Given the description of an element on the screen output the (x, y) to click on. 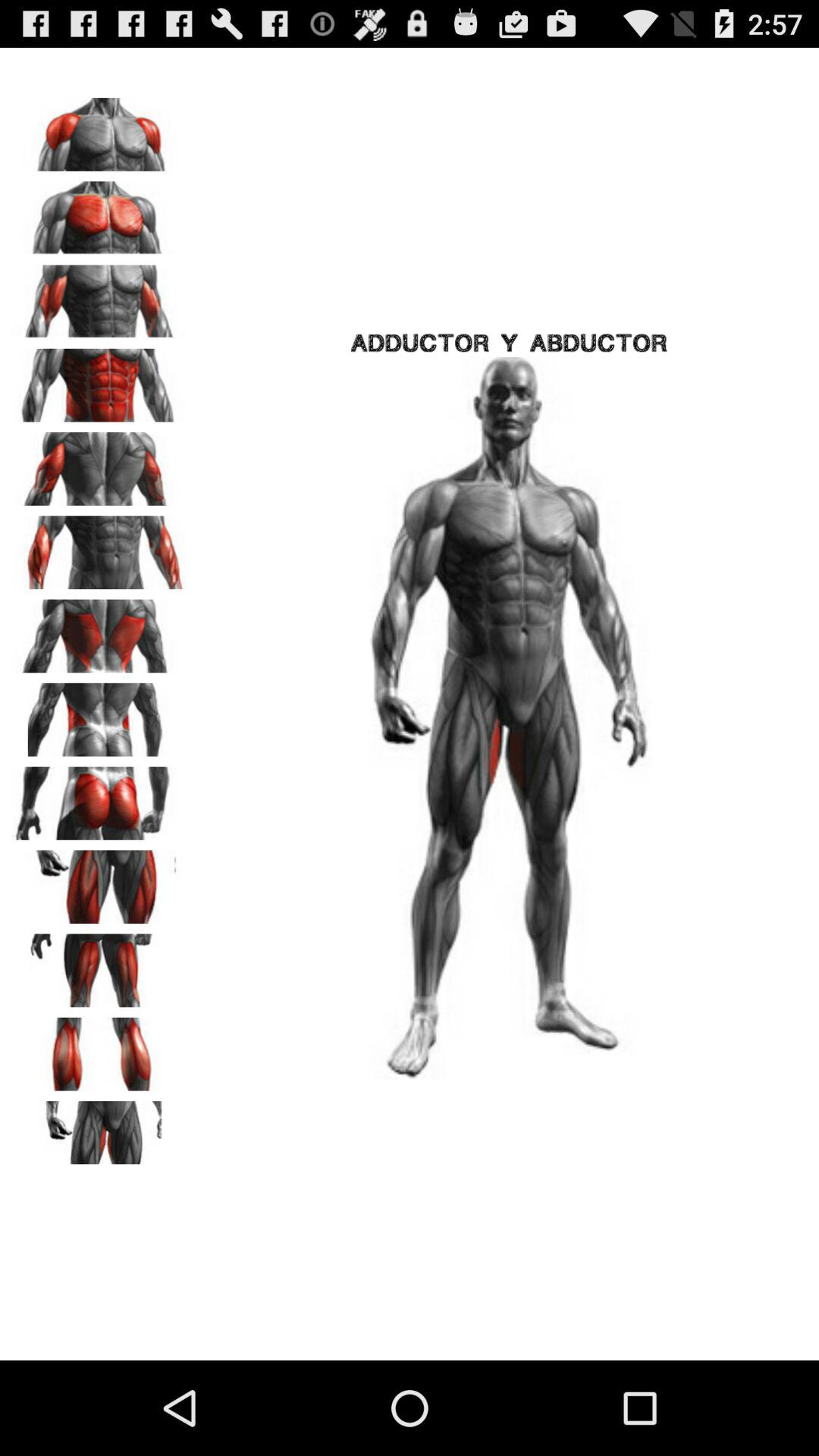
gym bodybuilding (99, 1132)
